Given the description of an element on the screen output the (x, y) to click on. 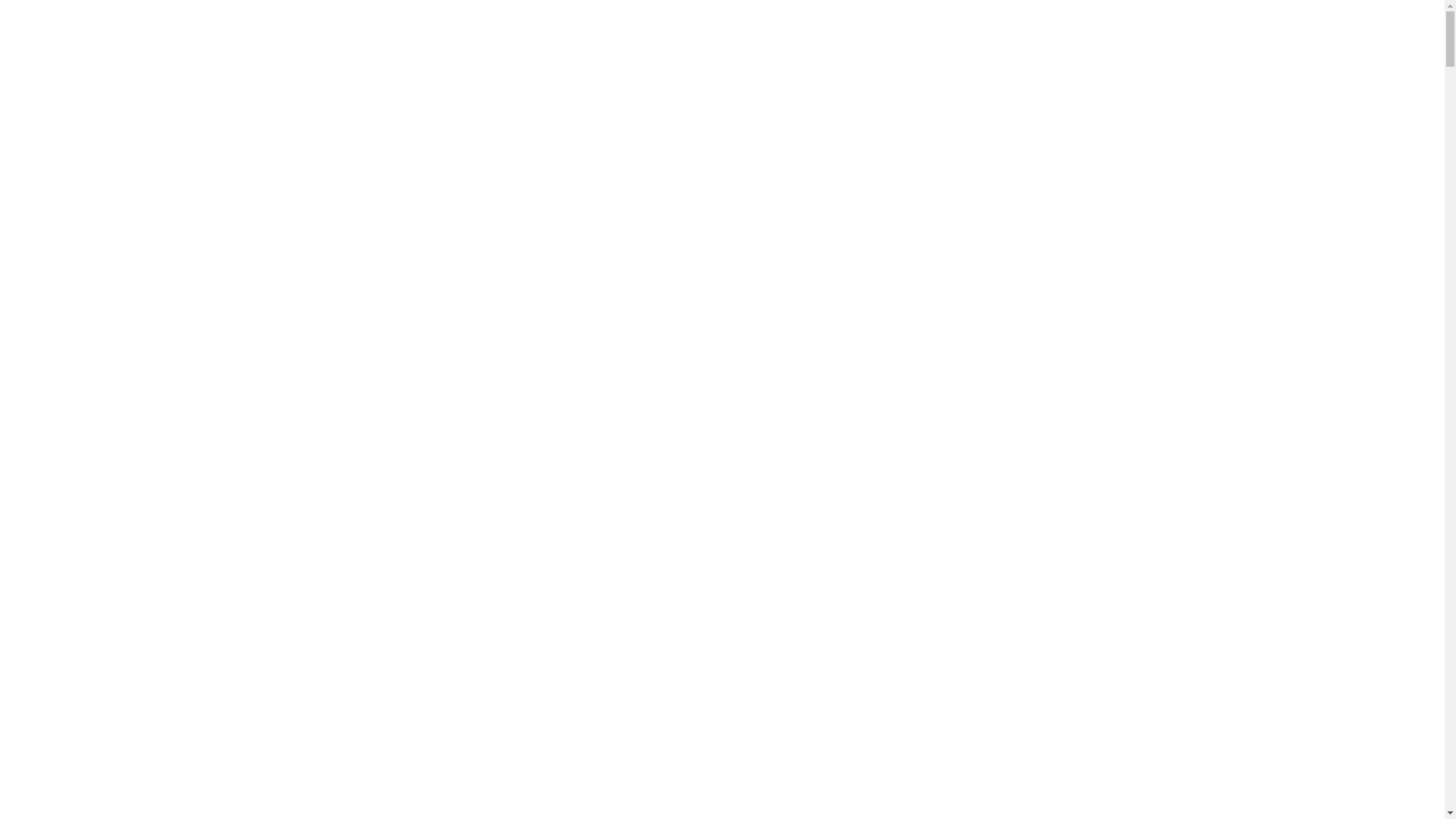
API Element type: text (8, 184)
